Given the description of an element on the screen output the (x, y) to click on. 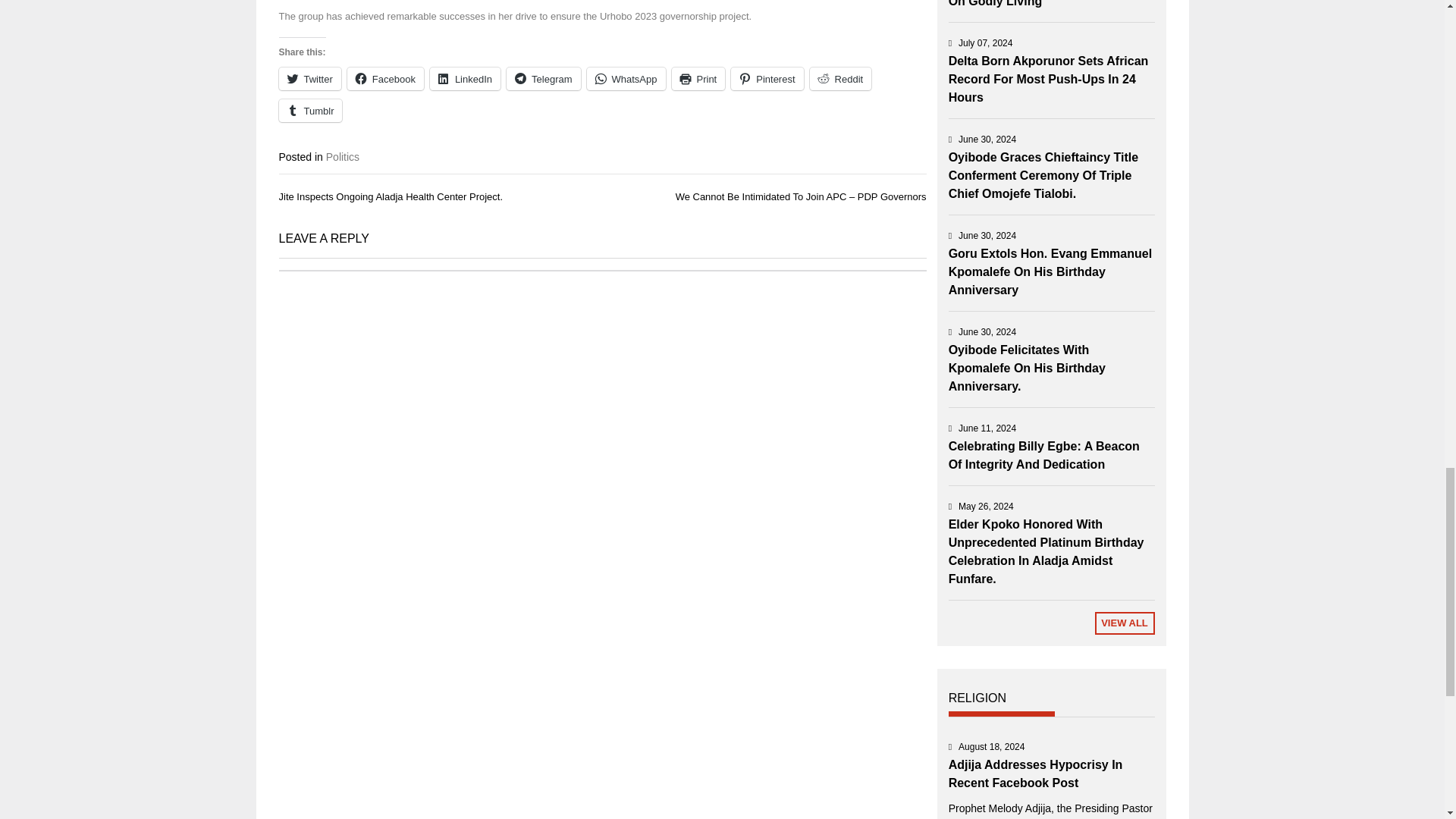
Telegram (542, 78)
Tumblr (310, 110)
Jite Inspects Ongoing Aladja Health Center Project. (391, 196)
Click to share on Twitter (309, 78)
Facebook (385, 78)
Pinterest (766, 78)
Twitter (309, 78)
LinkedIn (464, 78)
Click to share on Facebook (385, 78)
WhatsApp (625, 78)
